Given the description of an element on the screen output the (x, y) to click on. 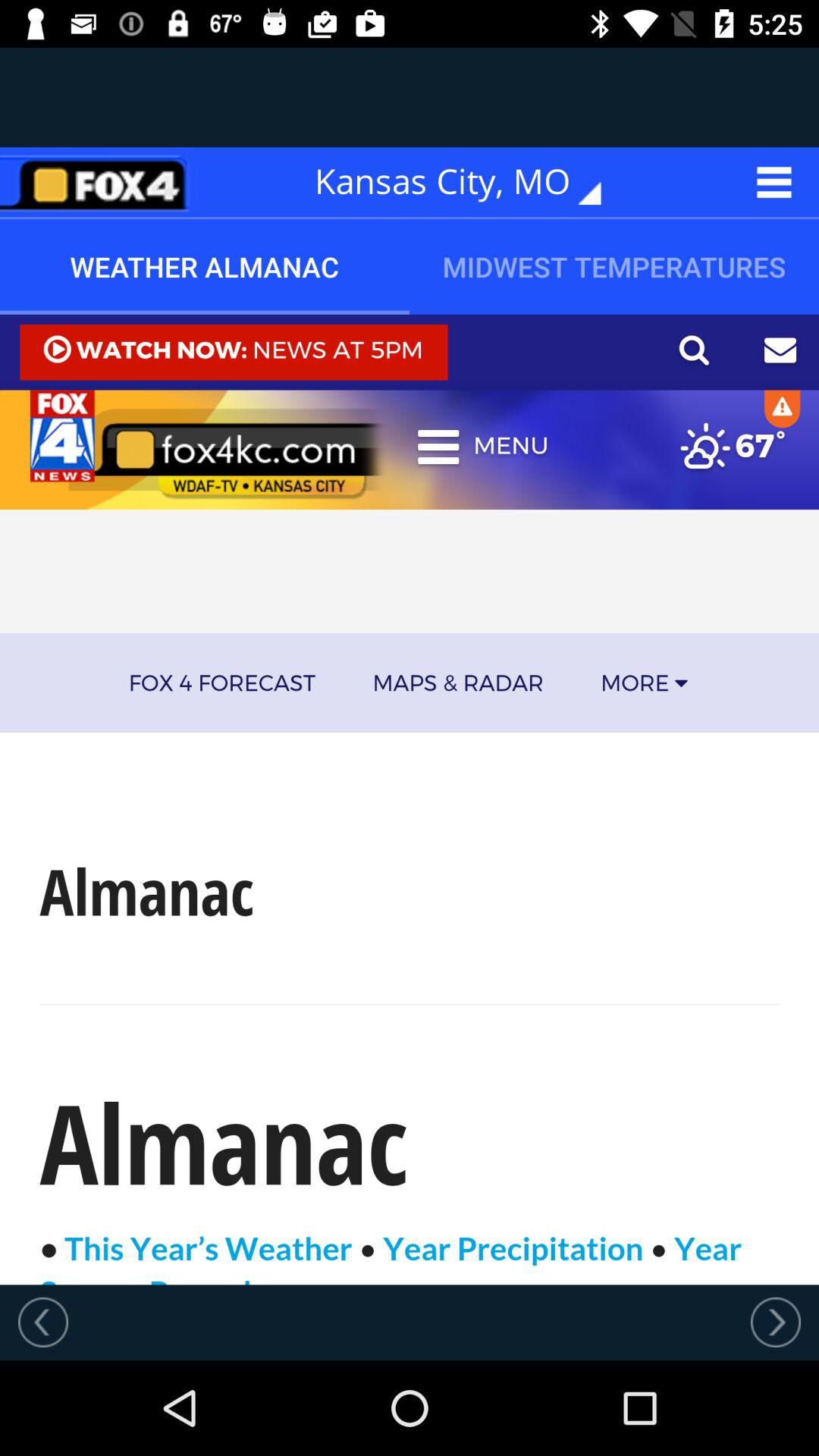
move to next screen (775, 1322)
